Given the description of an element on the screen output the (x, y) to click on. 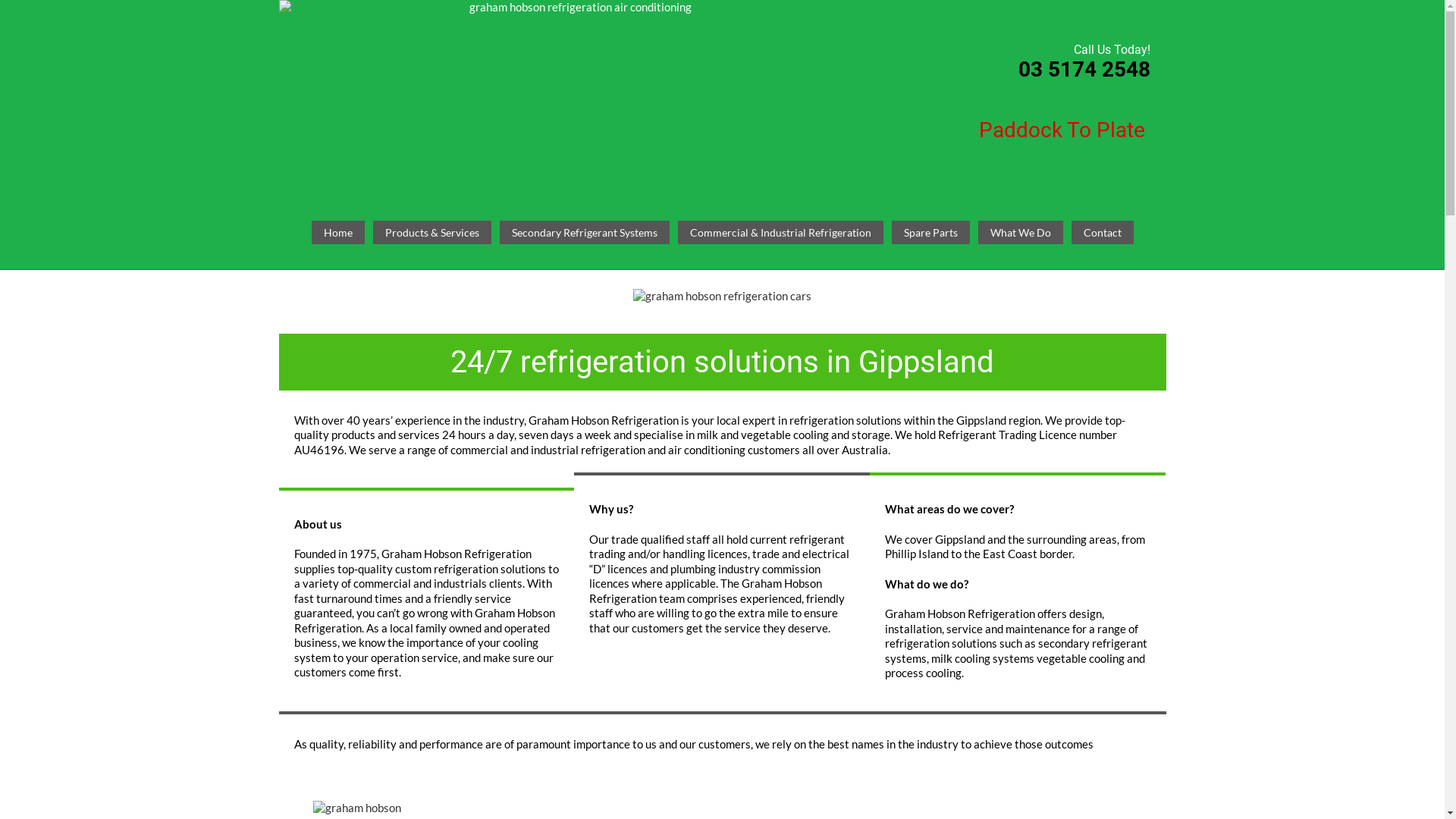
Products & Services Element type: text (432, 232)
Spare Parts Element type: text (930, 232)
What We Do Element type: text (1020, 232)
graham hobson refrigeration air conditioning Element type: hover (574, 97)
Commercial & Industrial Refrigeration Element type: text (780, 232)
03 5174 2548 Element type: text (1084, 68)
Secondary Refrigerant Systems Element type: text (583, 232)
graham hobson refrigeration cars Element type: hover (722, 310)
Home Element type: text (337, 232)
Contact Element type: text (1101, 232)
